Given the description of an element on the screen output the (x, y) to click on. 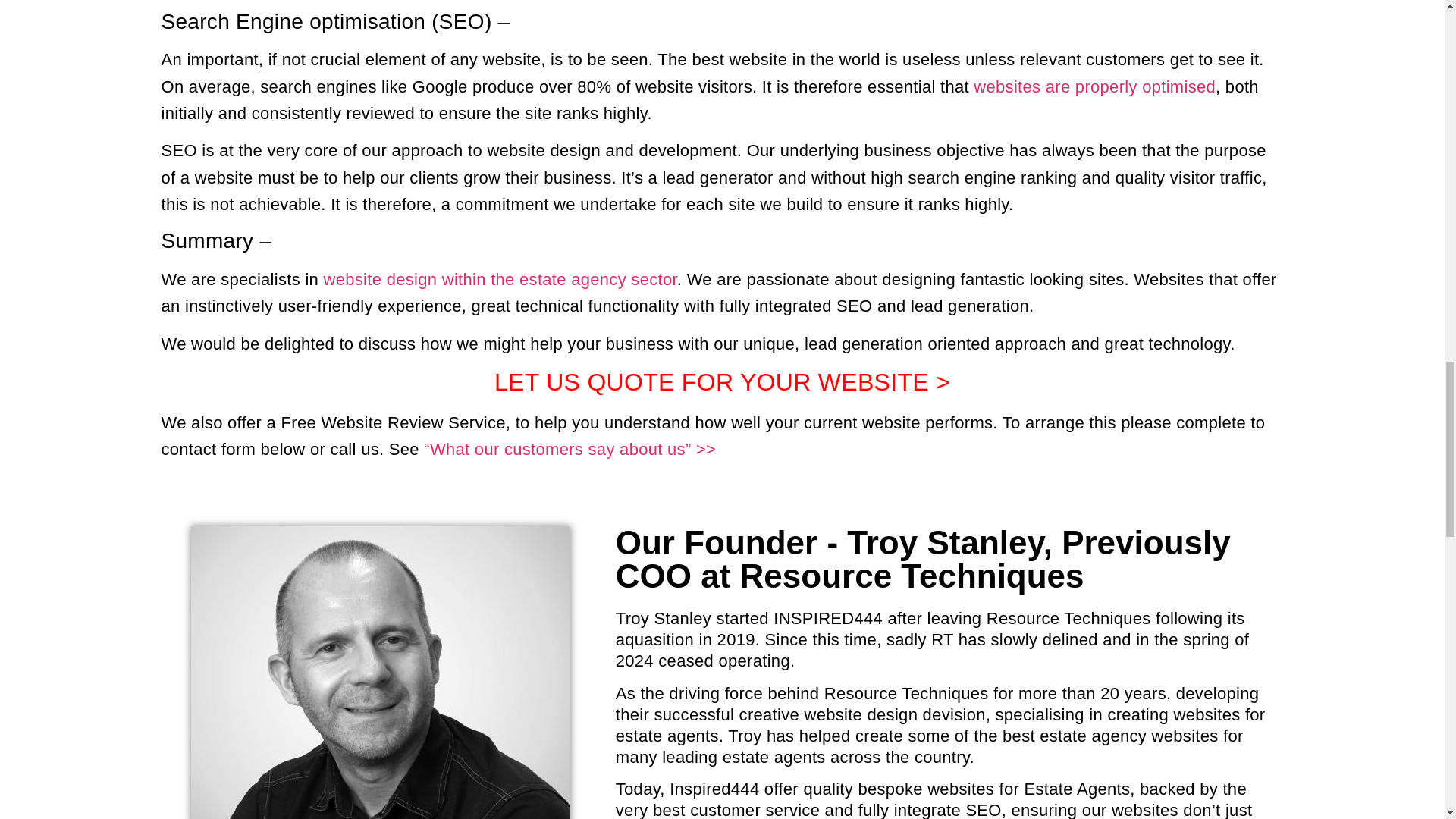
website design within the estate agency sector (500, 279)
websites are properly optimised (1092, 86)
